Given the description of an element on the screen output the (x, y) to click on. 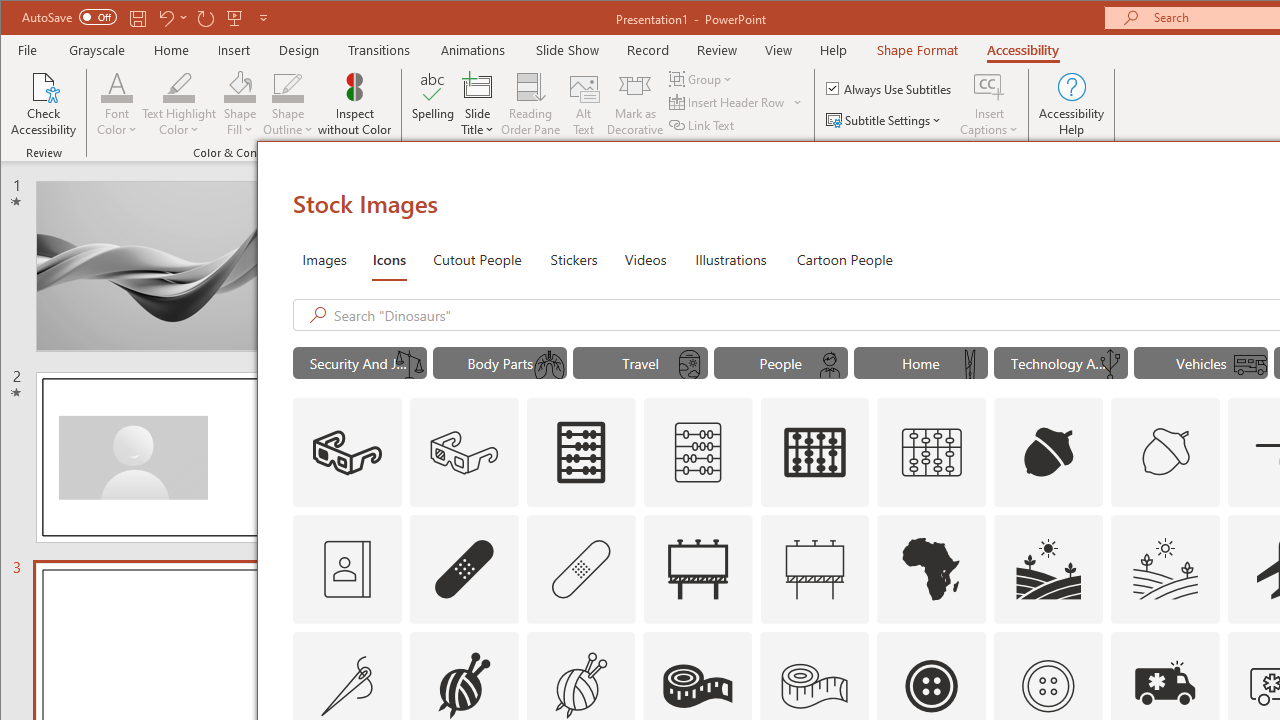
AutomationID: Icons_3dGlasses_M (463, 452)
AutomationID: Icons_Acorn (1048, 452)
AutomationID: Icons_Lungs_M (549, 365)
AutomationID: Icons_AdhesiveBandage_M (580, 568)
AutomationID: Icons_AddressBook_RTL_M (346, 568)
Insert Captions (989, 104)
AutomationID: Icons_3dGlasses (346, 452)
Illustrations (730, 258)
AutomationID: Icons_Advertising_M (815, 568)
